Given the description of an element on the screen output the (x, y) to click on. 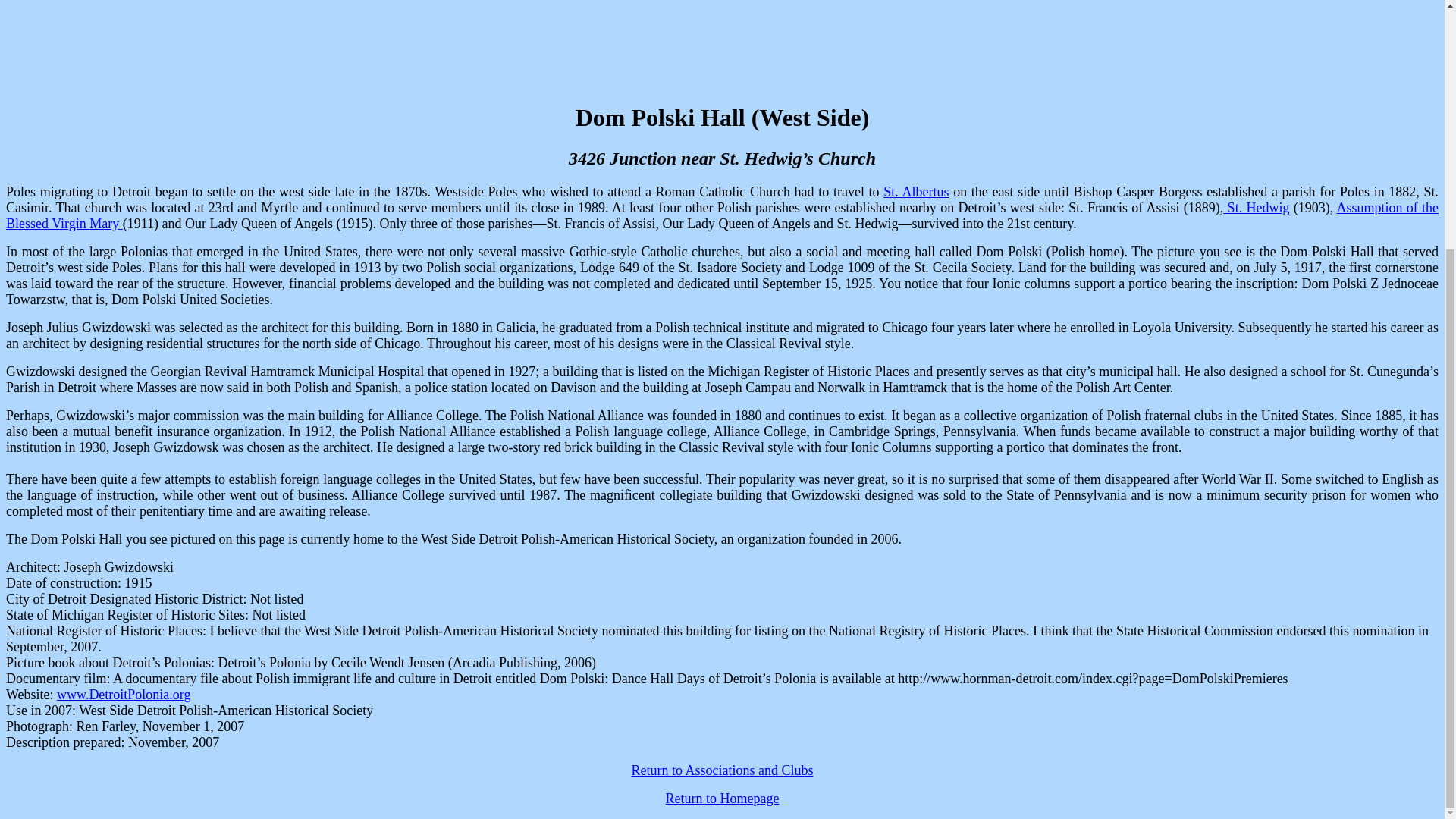
Assumption of the Blessed Virgin Mary (721, 214)
www.DetroitPolonia.org (123, 694)
Return to Associations and Clubs (721, 770)
St. Hedwig (1255, 207)
Return to Homepage (721, 798)
St. Albertus (916, 191)
